Given the description of an element on the screen output the (x, y) to click on. 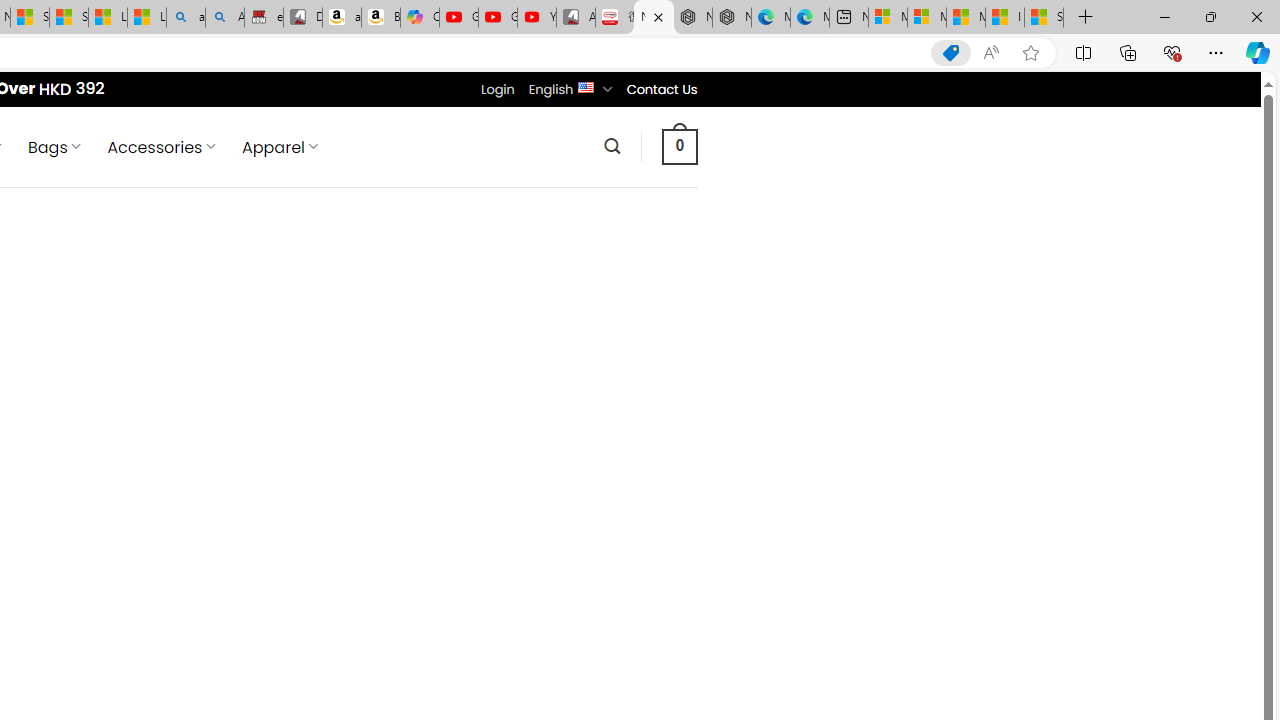
I Gained 20 Pounds of Muscle in 30 Days! | Watch (1004, 17)
  0   (679, 146)
 0  (679, 146)
